Given the description of an element on the screen output the (x, y) to click on. 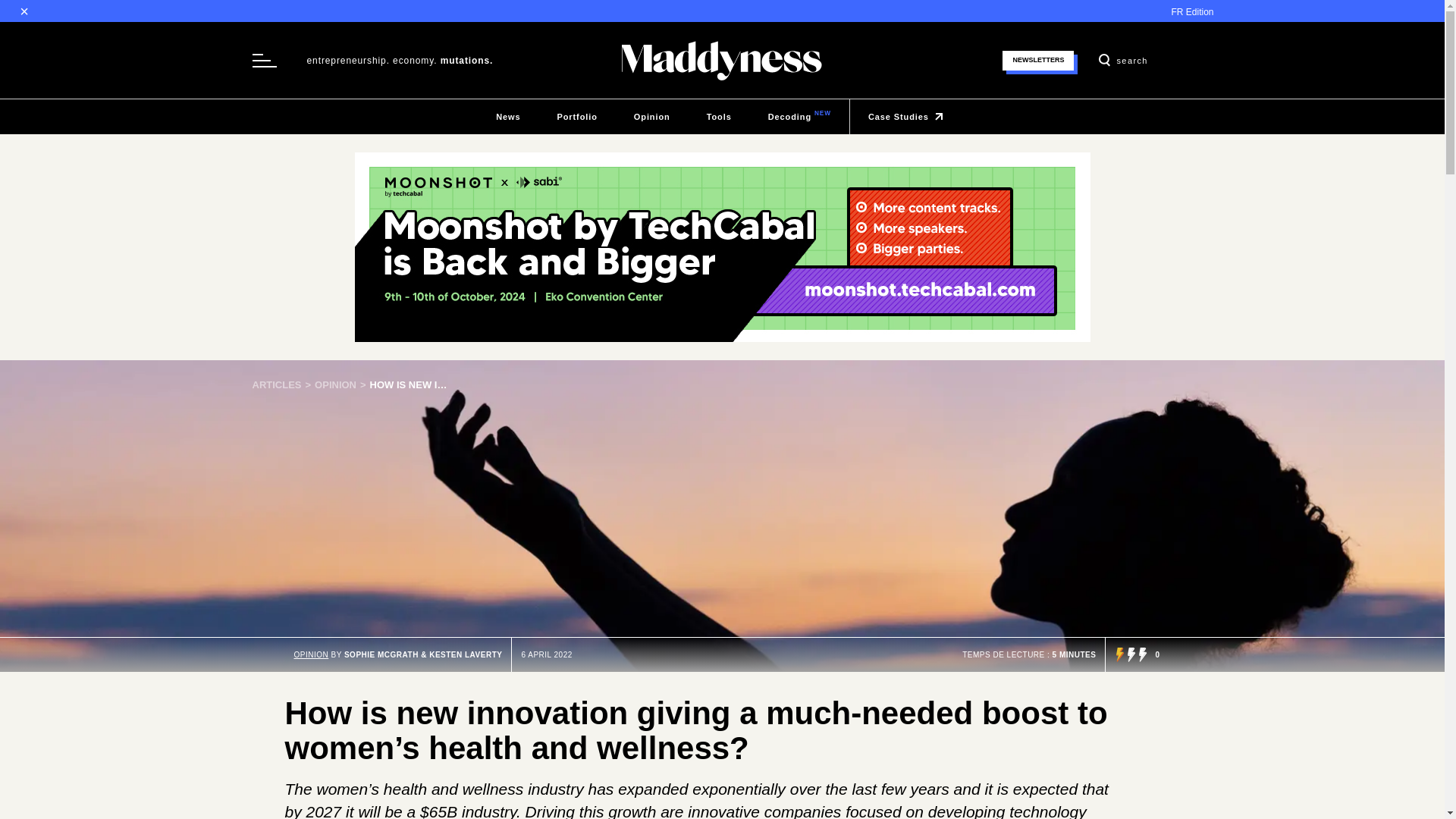
Case studies (908, 116)
Case Studies (908, 116)
News (507, 116)
Portfolio (576, 116)
ARTICLES (282, 385)
Tools (718, 116)
Tools (798, 116)
Decoding (718, 116)
Opinion (798, 116)
Opinion (651, 116)
Opinion (341, 385)
NEWSLETTERS (651, 116)
OPINION (1038, 59)
News (341, 385)
